Given the description of an element on the screen output the (x, y) to click on. 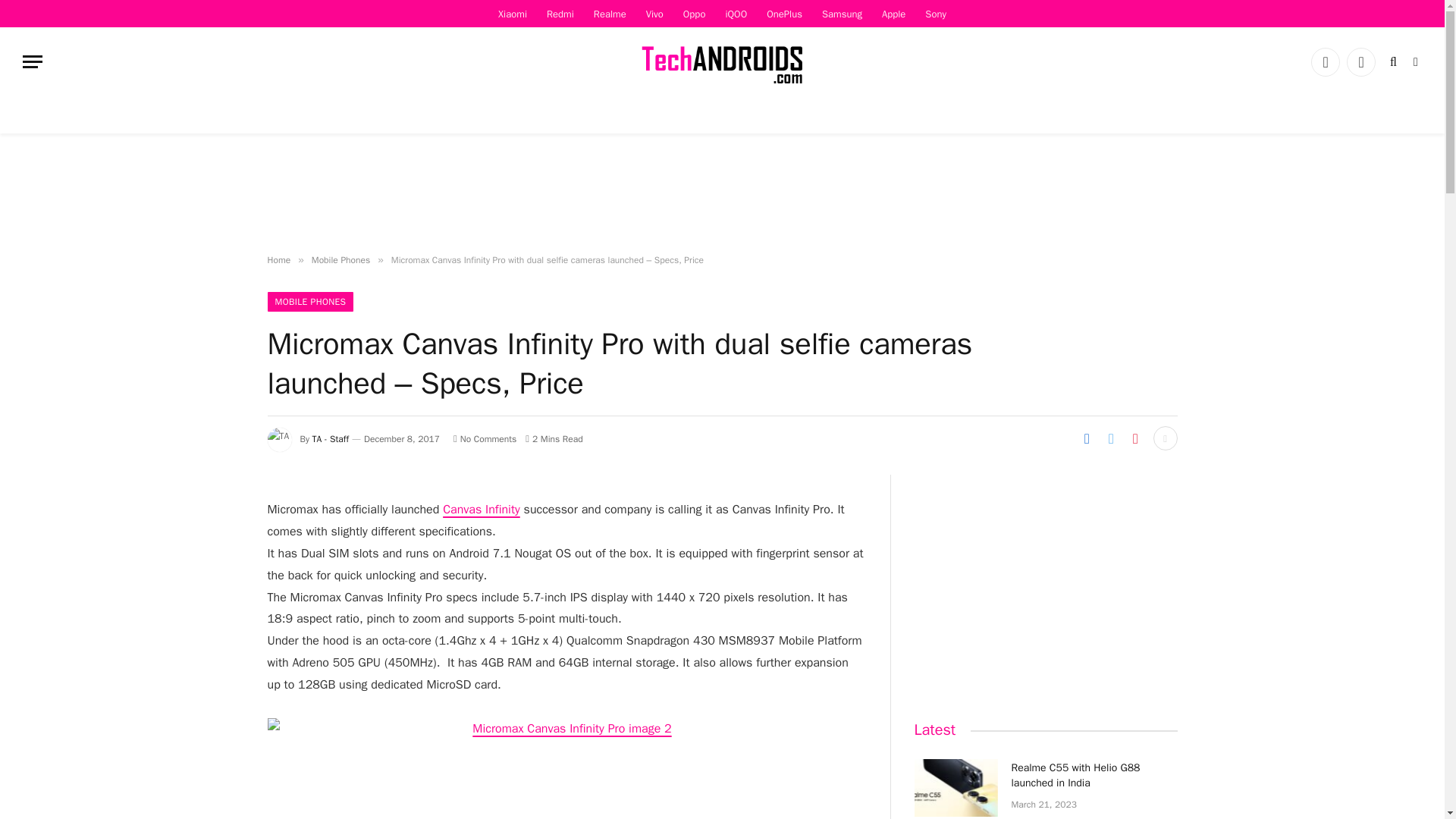
OnePlus (784, 13)
Share on Facebook (1086, 437)
Samsung (842, 13)
Home (277, 259)
Oppo (694, 13)
Mobile Phones (340, 259)
Vivo (654, 13)
No Comments (484, 439)
Switch to Dark Design - easier on eyes. (1414, 61)
Share on Pinterest (1135, 437)
Apple (893, 13)
TechANDROIDS (721, 61)
MOBILE PHONES (309, 301)
Xiaomi (512, 13)
Sony (935, 13)
